Given the description of an element on the screen output the (x, y) to click on. 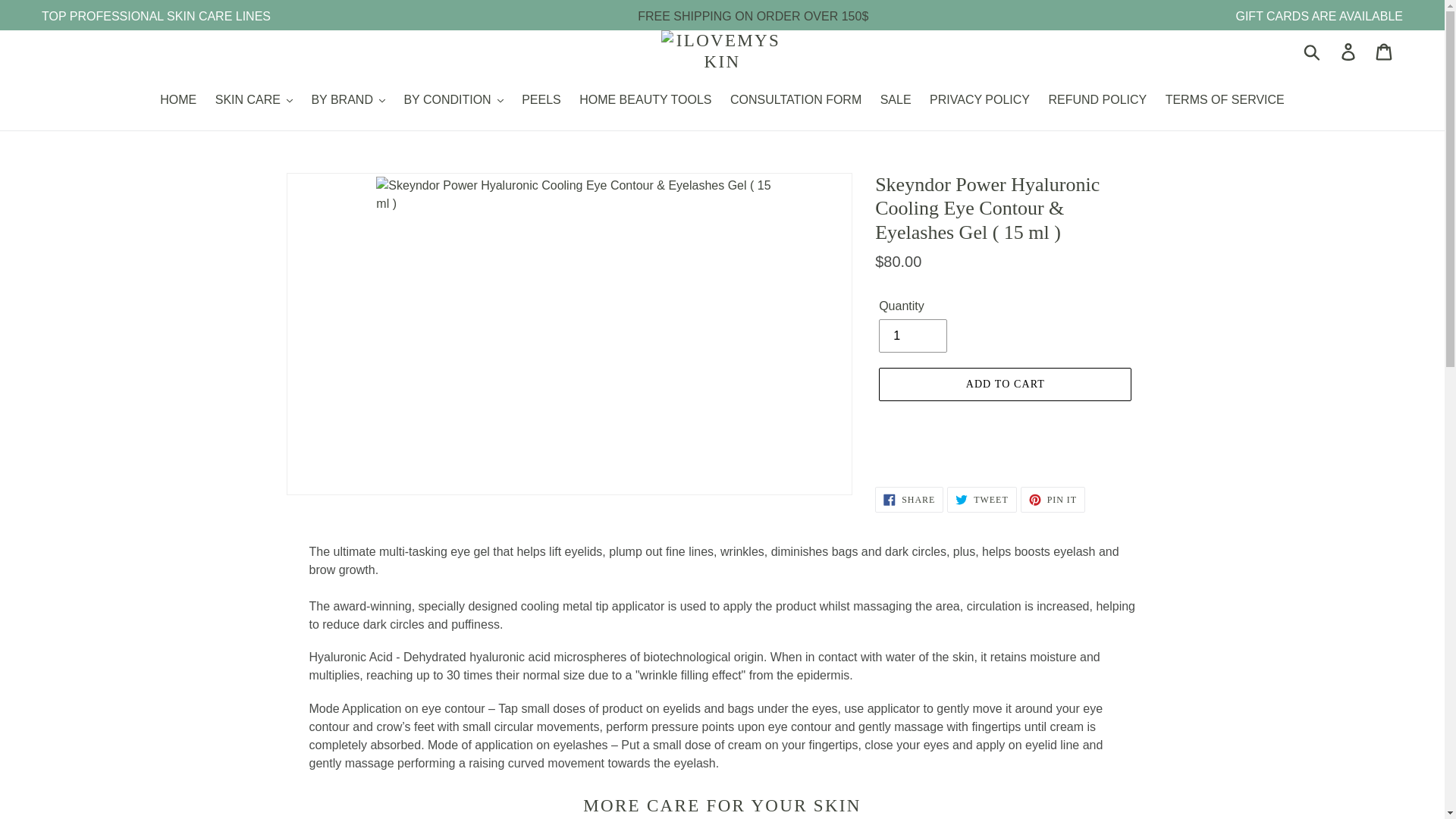
1 (913, 335)
Cart (1385, 50)
TOP PROFESSIONAL SKIN CARE LINES (156, 16)
Submit (1313, 51)
GIFT CARDS ARE AVAILABLE (1318, 16)
Log in (1349, 50)
